Given the description of an element on the screen output the (x, y) to click on. 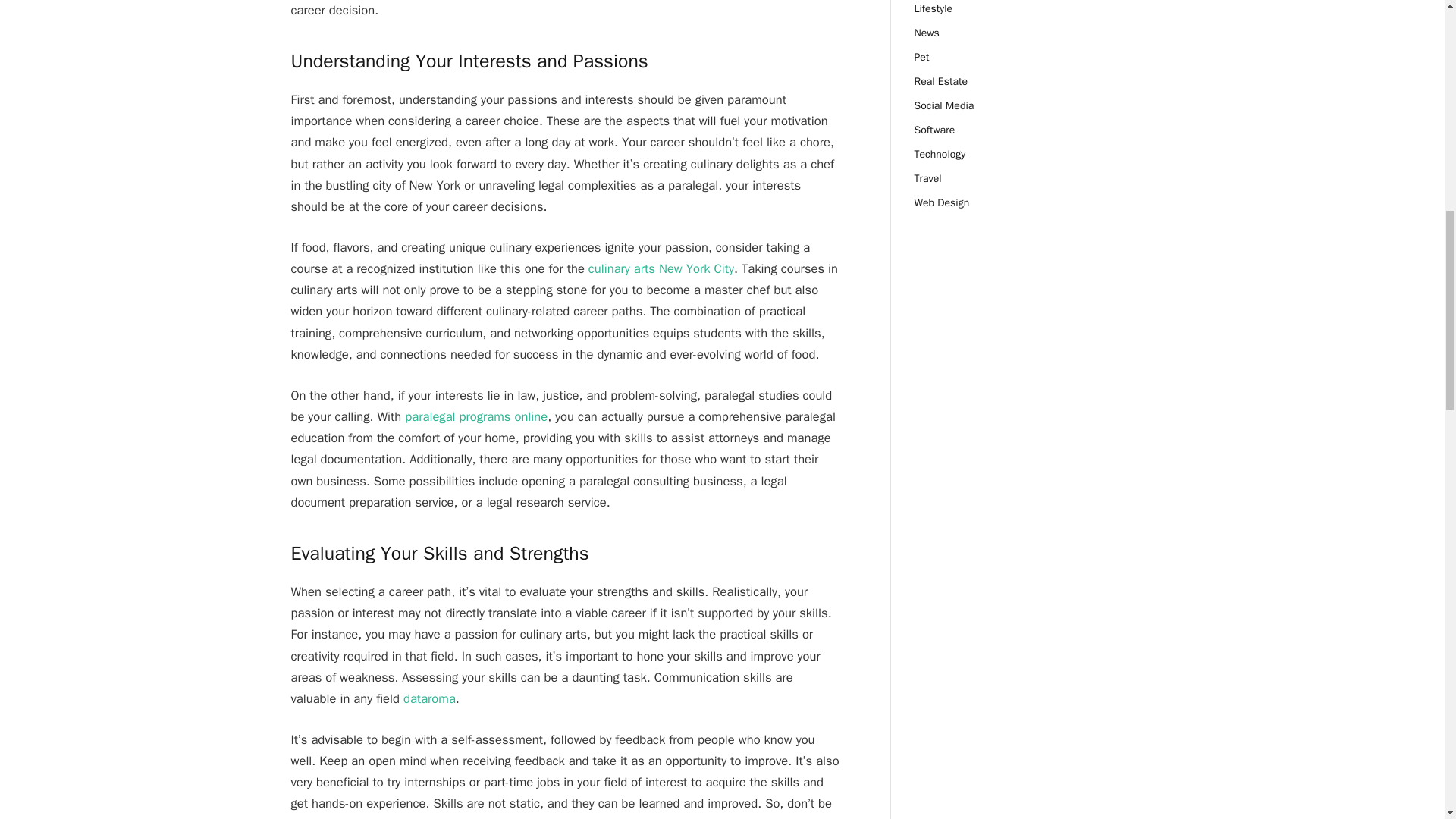
paralegal programs online (475, 416)
dataroma (429, 698)
culinary arts New York City (660, 268)
